Given the description of an element on the screen output the (x, y) to click on. 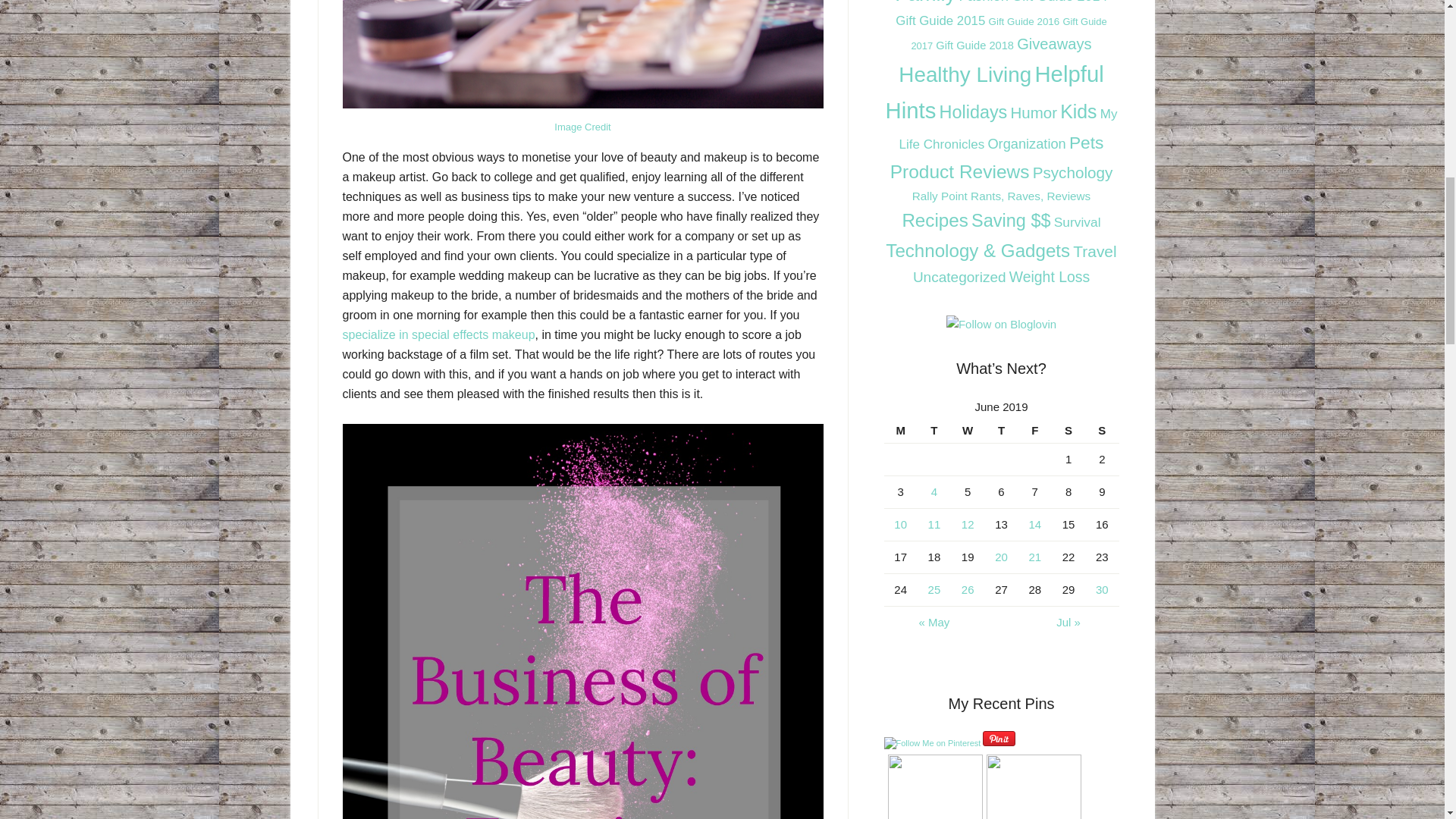
Wednesday (967, 430)
Fashion (983, 2)
Sunday (1101, 430)
Image Credit (582, 126)
Monday (900, 430)
Saturday (1067, 430)
Gift Guide 2014 (1058, 2)
Thursday (1000, 430)
Friday (1034, 430)
specialize in special effects makeup (438, 334)
Family (925, 2)
Tuesday (933, 430)
